Given the description of an element on the screen output the (x, y) to click on. 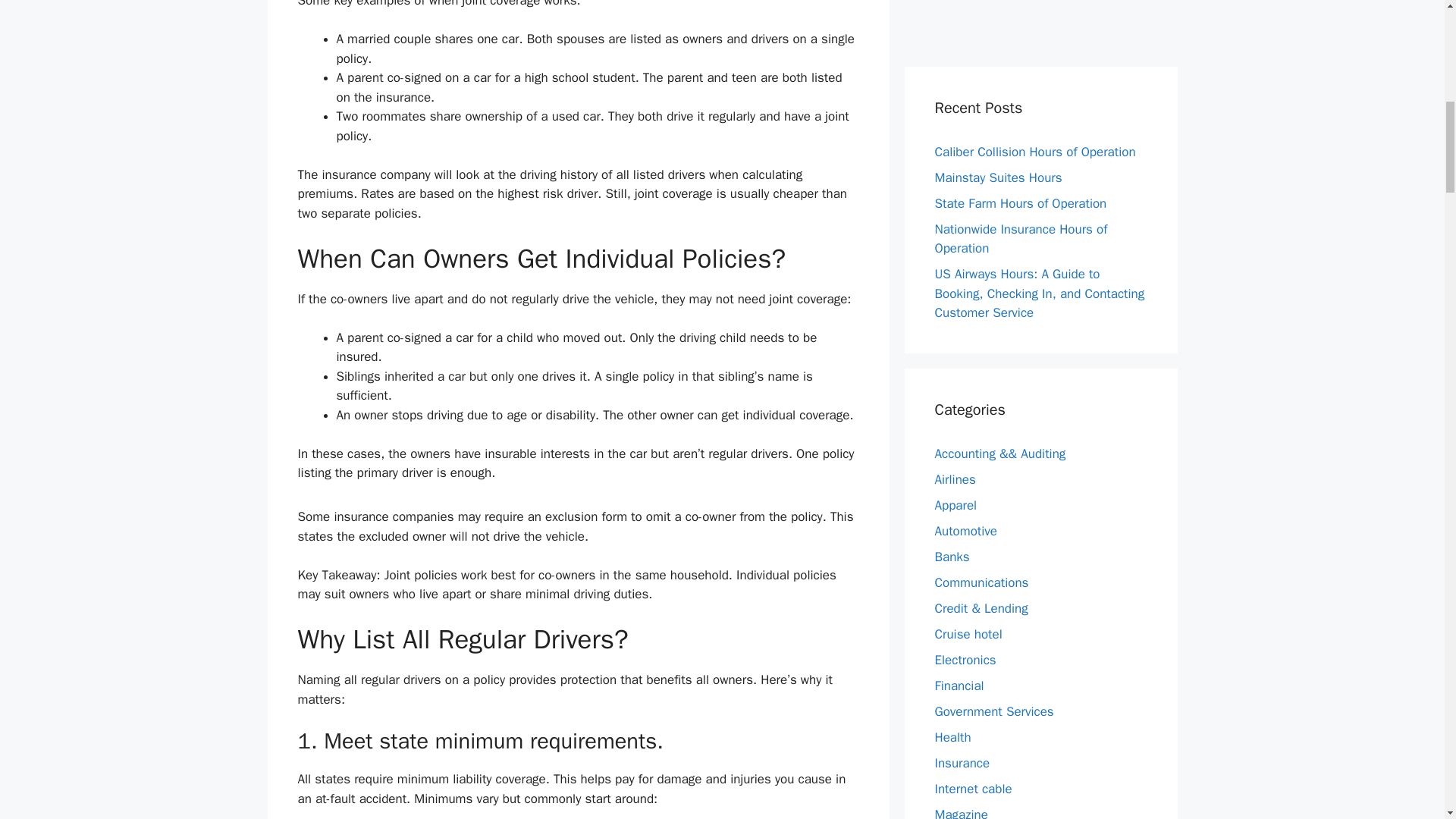
Mainstay Suites Hours (997, 177)
Insurance (962, 763)
Banks (951, 556)
Airlines (954, 479)
Communications (980, 582)
Health (952, 737)
State Farm Hours of Operation (1020, 203)
Electronics (964, 659)
Caliber Collision Hours of Operation (1034, 151)
